Given the description of an element on the screen output the (x, y) to click on. 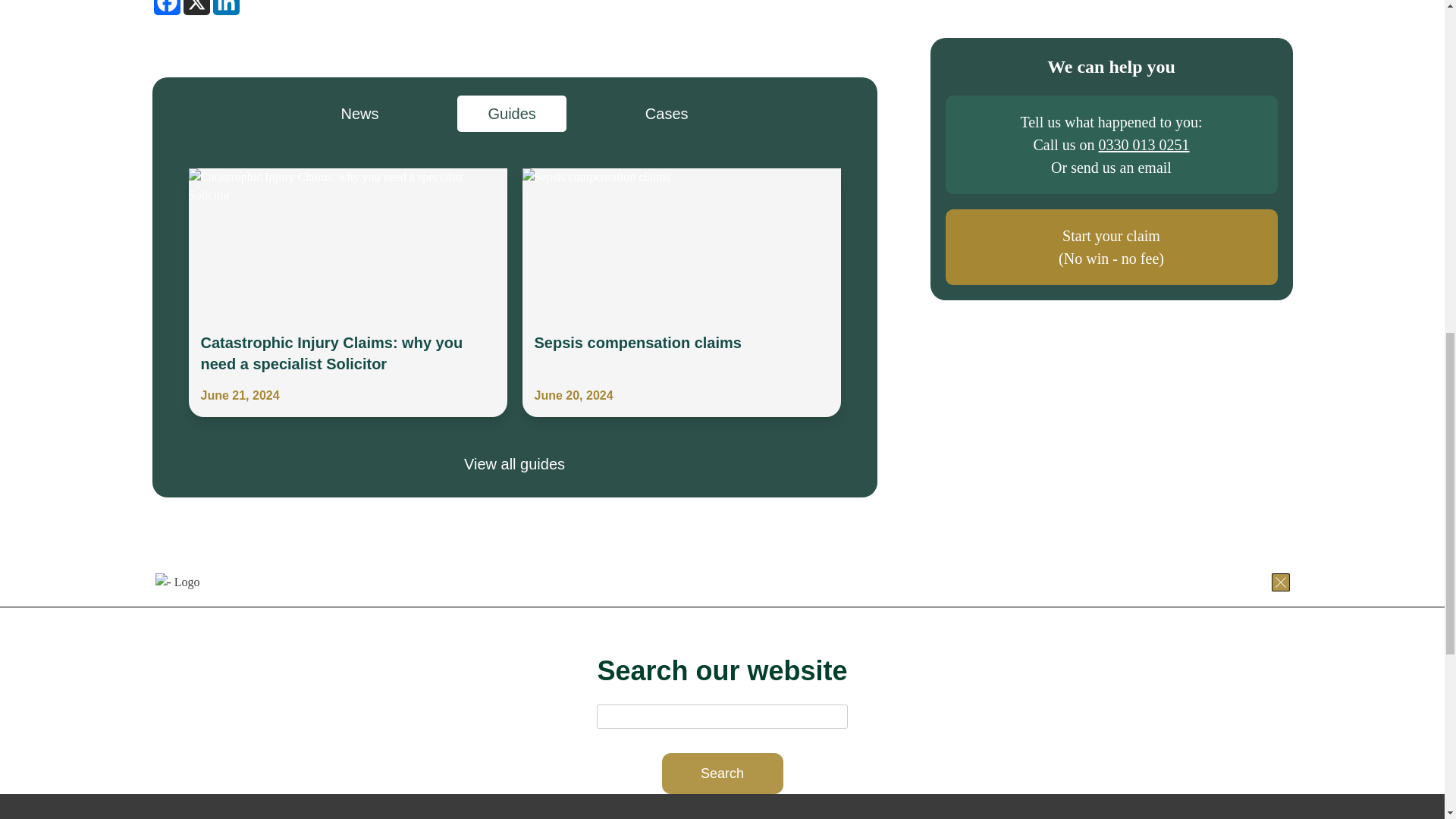
Linkedin (225, 7)
Fletchers (435, 582)
X (196, 7)
Search (722, 772)
Facebook (165, 7)
